Given the description of an element on the screen output the (x, y) to click on. 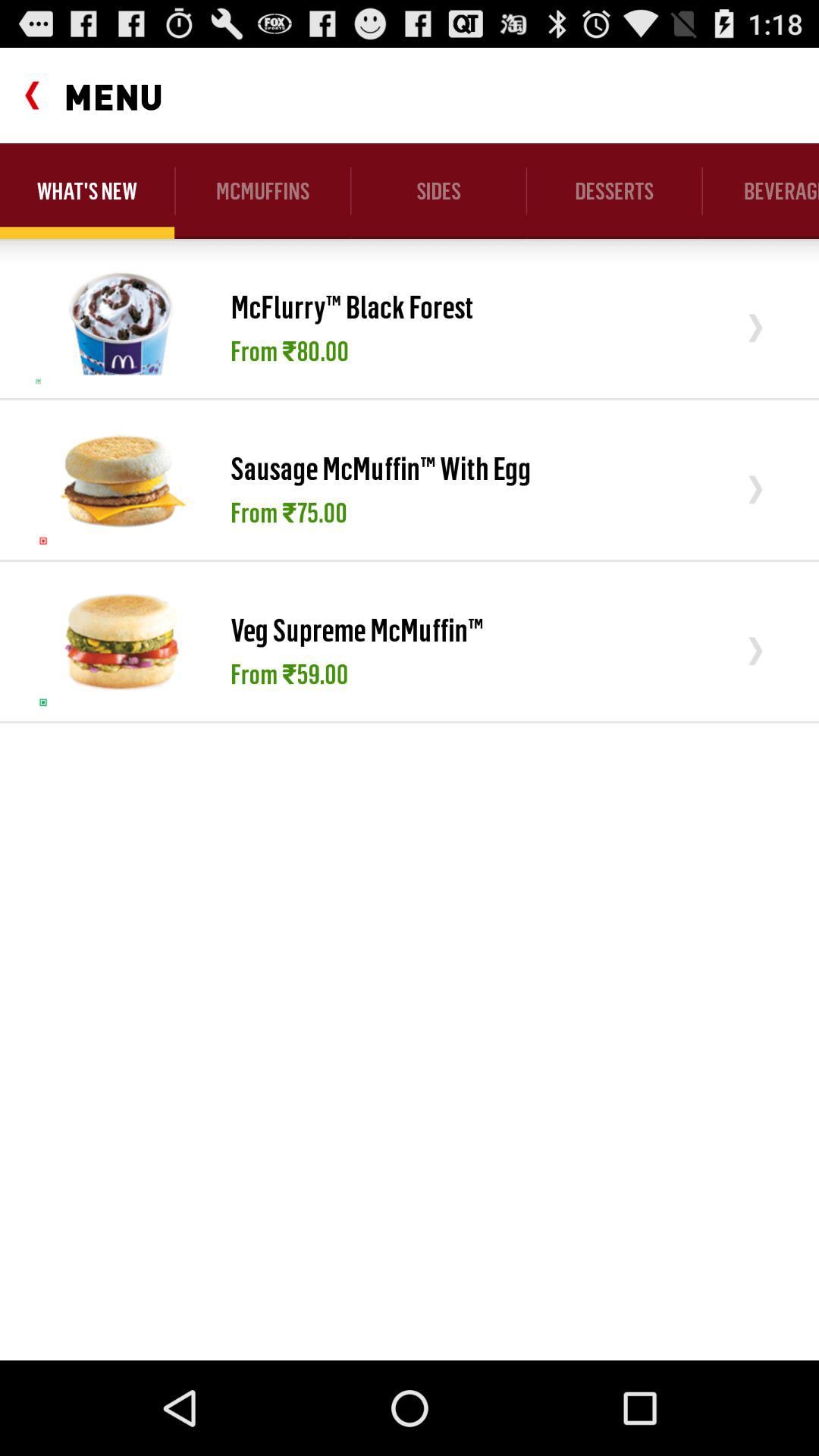
tap the item below what's new (121, 317)
